Given the description of an element on the screen output the (x, y) to click on. 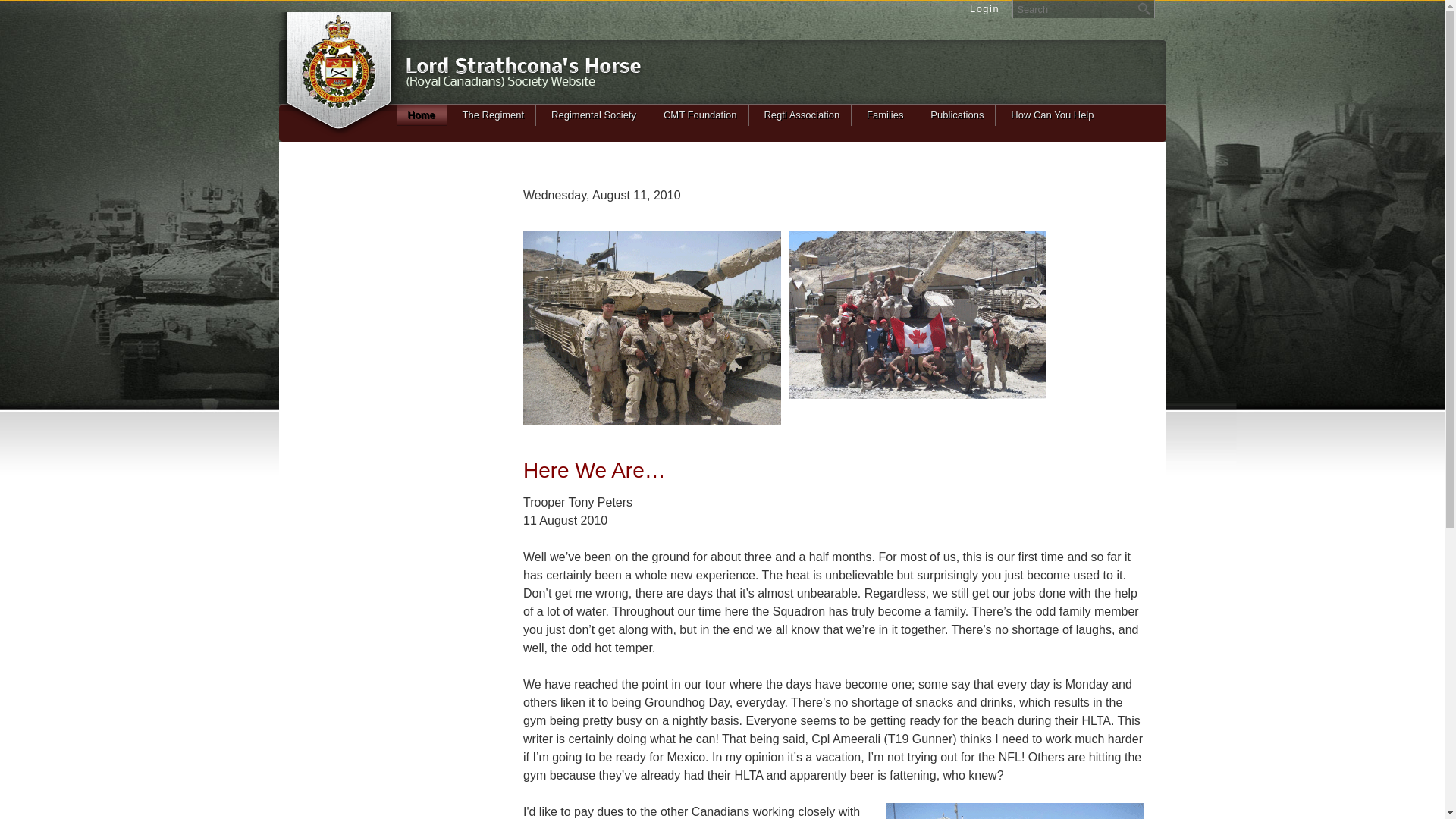
The Regiment (494, 115)
Home (421, 115)
Login (984, 9)
